Given the description of an element on the screen output the (x, y) to click on. 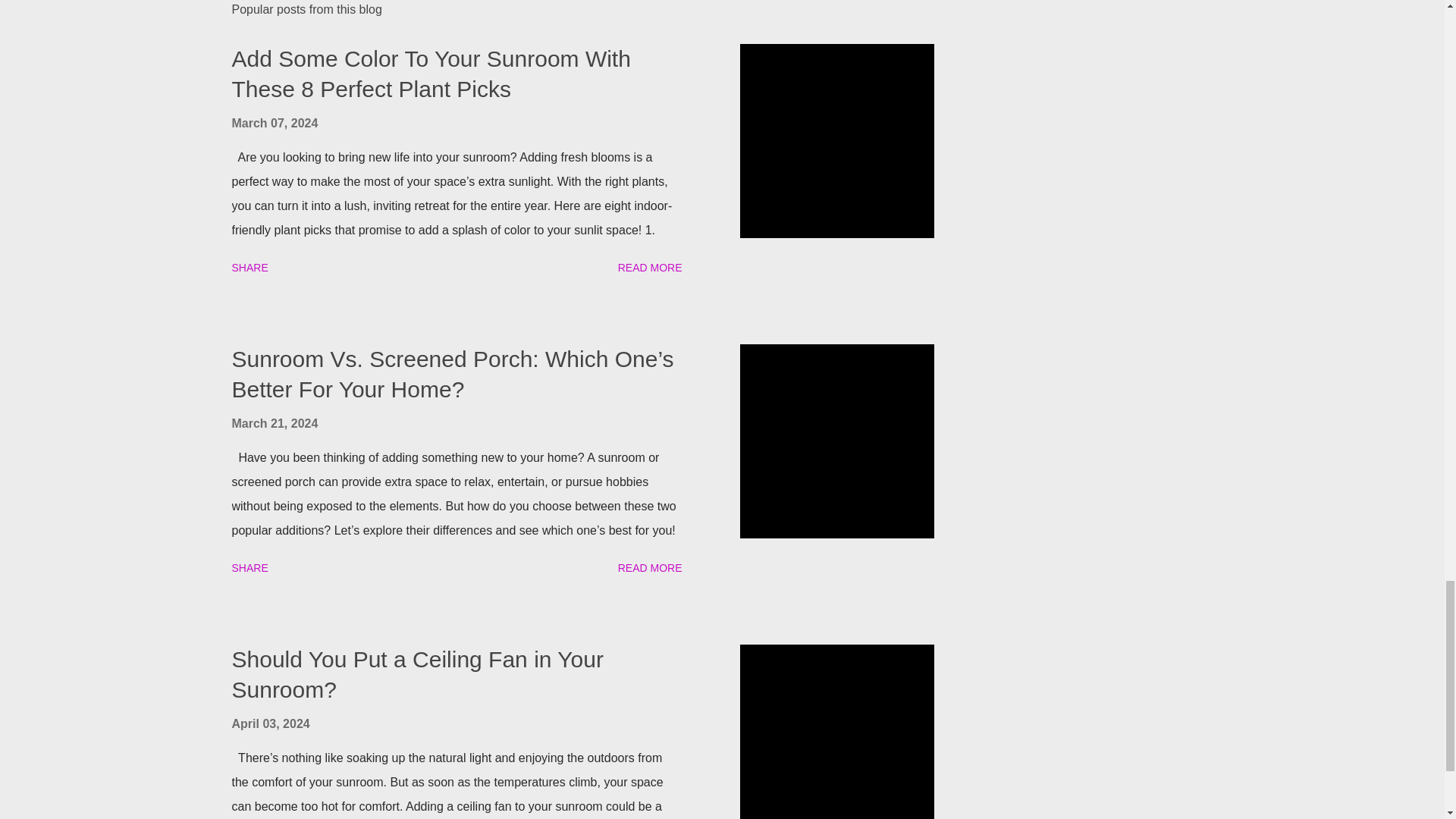
permanent link (274, 123)
